Given the description of an element on the screen output the (x, y) to click on. 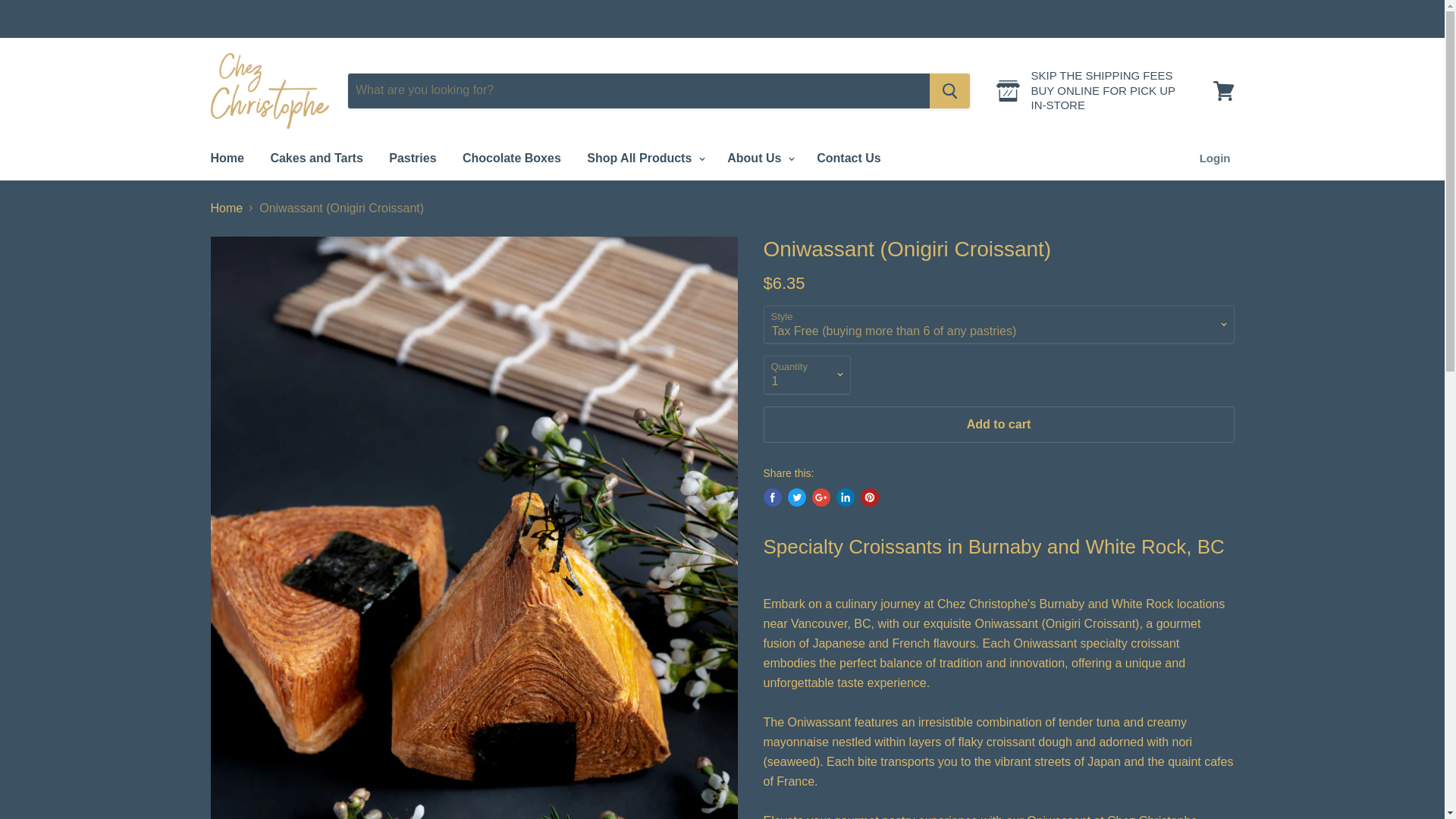
About Us (759, 158)
Chocolate Boxes (511, 158)
Home (226, 158)
Pastries (411, 158)
Shop All Products (644, 158)
Cakes and Tarts (316, 158)
View cart (1223, 89)
